Given the description of an element on the screen output the (x, y) to click on. 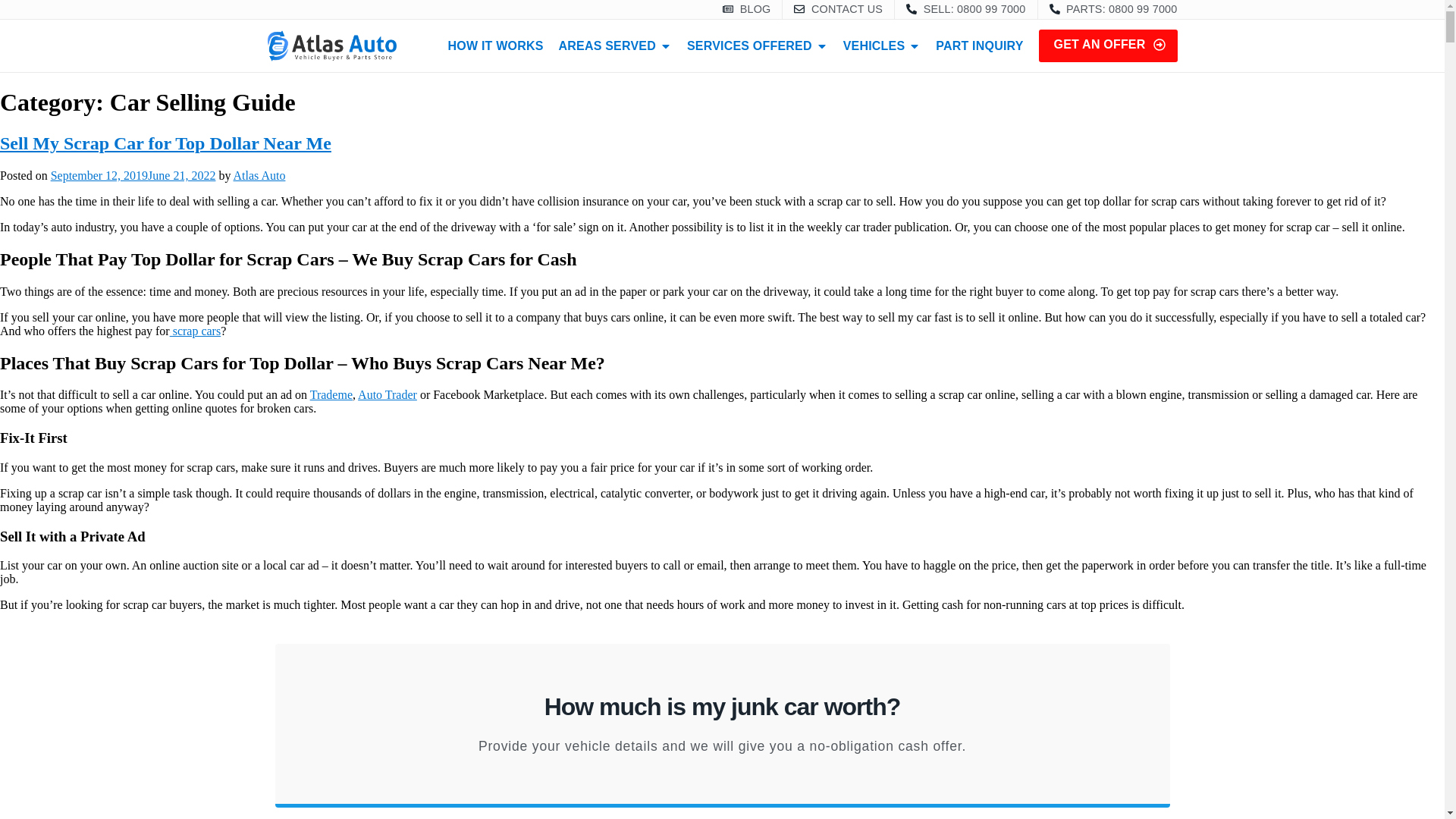
SELL: 0800 99 7000 (965, 9)
CONTACT US (837, 9)
BLOG (746, 9)
AREAS SERVED (607, 45)
HOW IT WORKS (495, 45)
VEHICLES (874, 45)
SERVICES OFFERED (749, 45)
PARTS: 0800 99 7000 (1113, 9)
PART INQUIRY (979, 45)
